Given the description of an element on the screen output the (x, y) to click on. 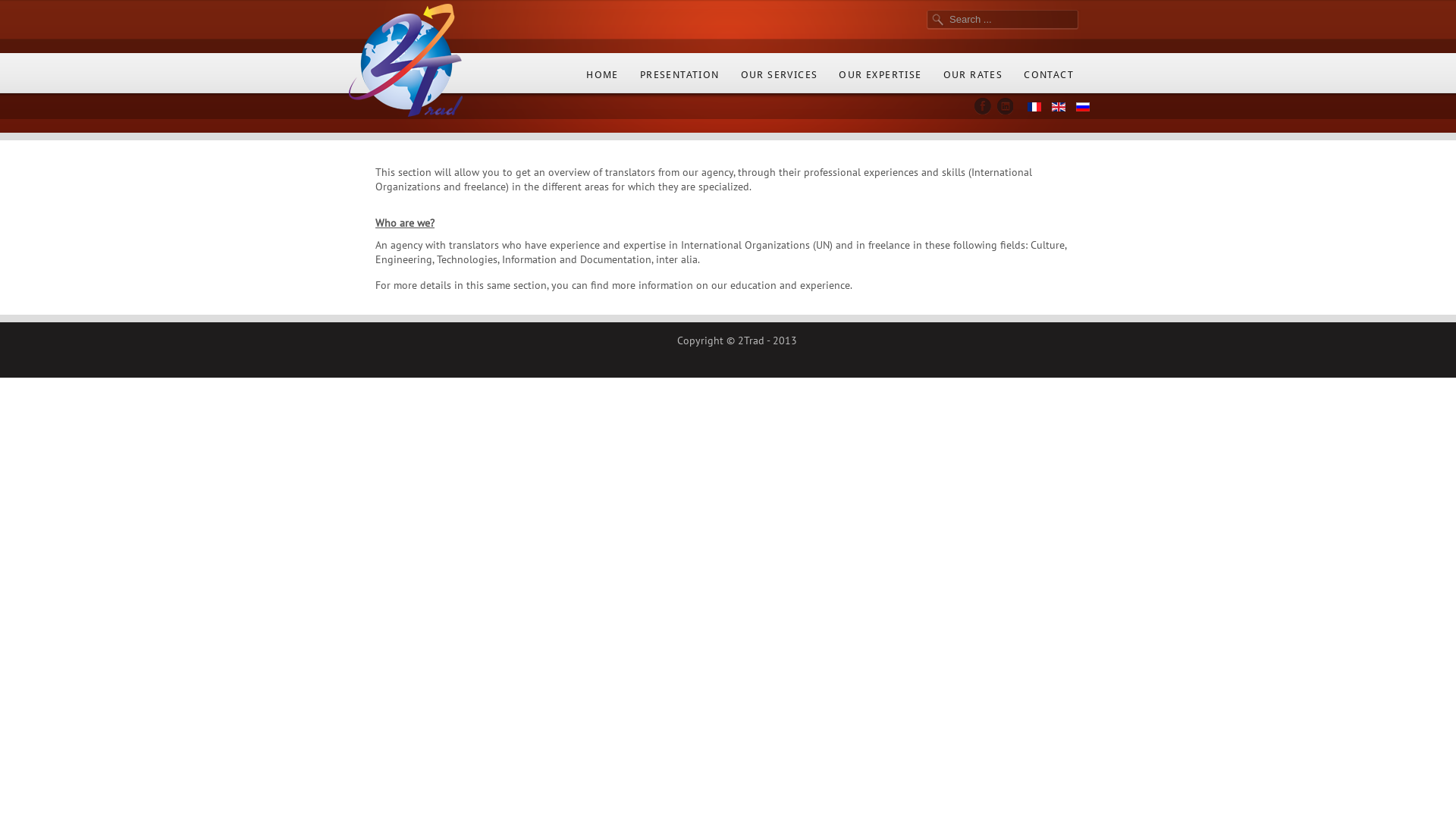
English (UK) Element type: hover (1058, 105)
CONTACT Element type: text (1048, 78)
Facebook Element type: hover (982, 105)
HOME Element type: text (602, 78)
Russian Element type: hover (1082, 105)
OUR EXPERTISE Element type: text (879, 78)
OUR RATES Element type: text (973, 78)
PRESENTATION Element type: text (679, 78)
OUR SERVICES Element type: text (779, 78)
LinkedIn Element type: hover (1004, 105)
